Given the description of an element on the screen output the (x, y) to click on. 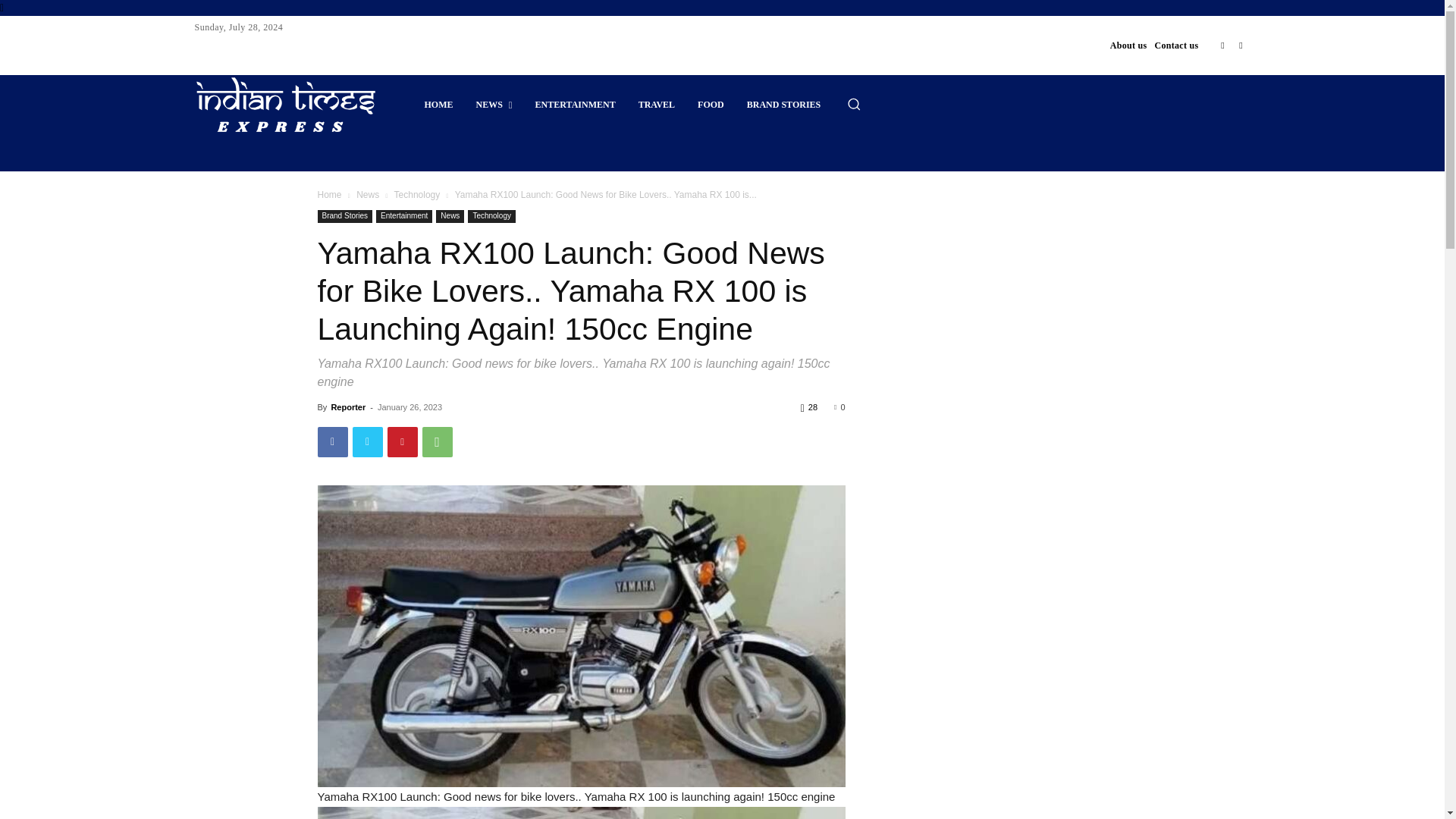
NEWS (493, 104)
About us (1128, 45)
Contact us (1176, 45)
HOME (438, 104)
Facebook (1221, 45)
Instagram (1240, 45)
ENTERTAINMENT (575, 104)
TRAVEL (656, 104)
